Given the description of an element on the screen output the (x, y) to click on. 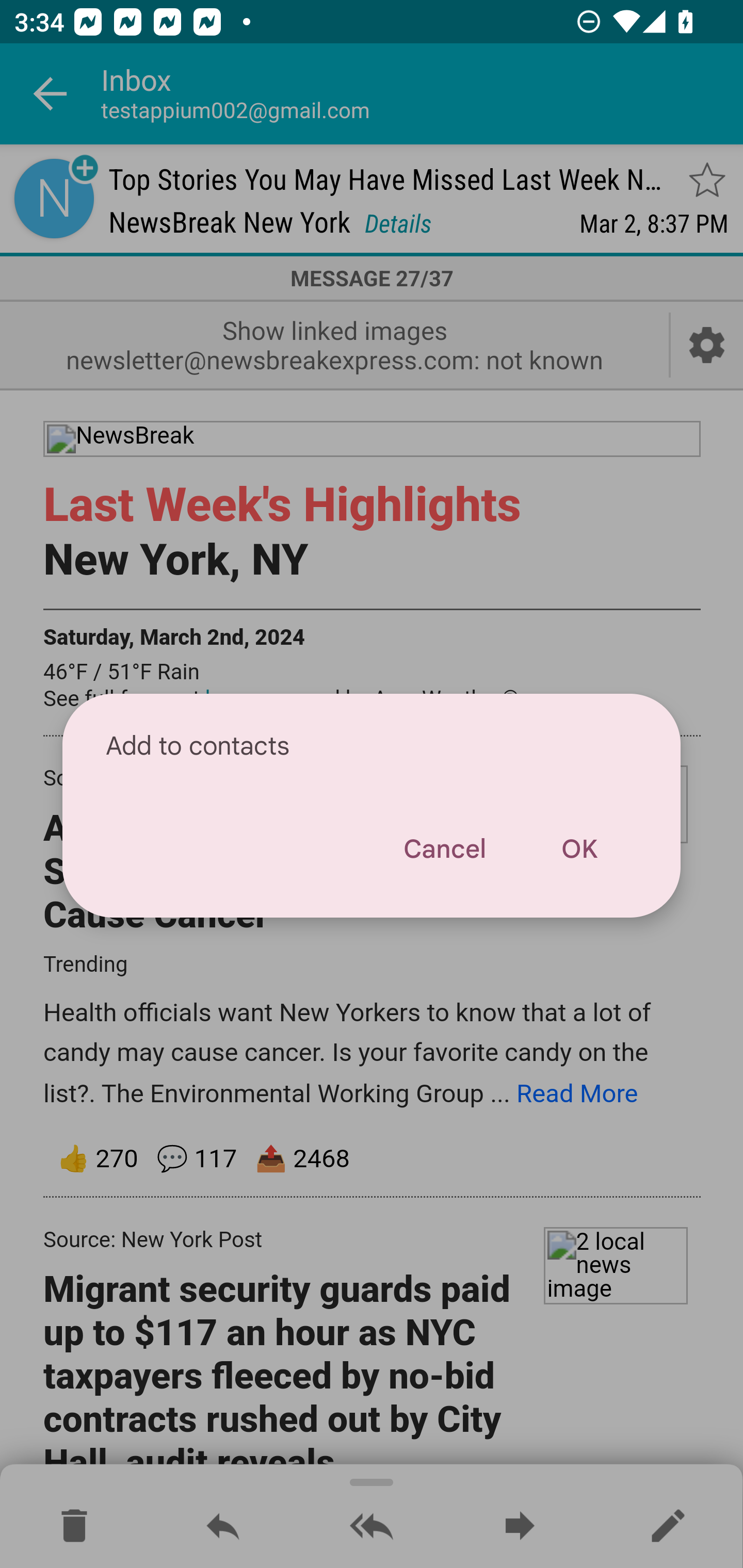
Cancel (444, 848)
OK (579, 848)
